Given the description of an element on the screen output the (x, y) to click on. 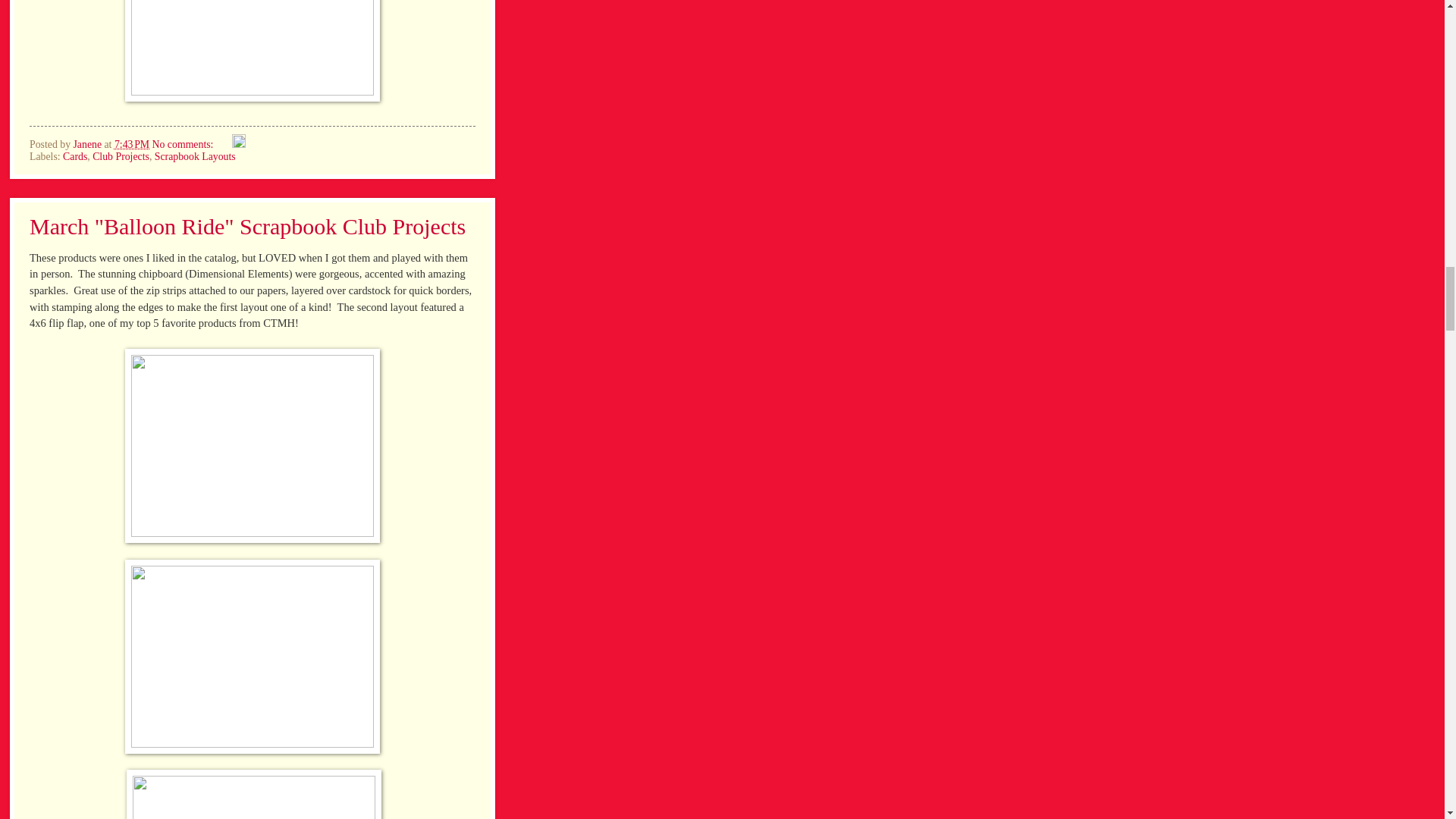
March "Balloon Ride" Scrapbook Club Projects (247, 226)
Club Projects (121, 156)
Cards (74, 156)
permanent link (132, 143)
Email Post (223, 143)
Scrapbook Layouts (194, 156)
author profile (87, 143)
Janene (87, 143)
No comments: (183, 143)
Edit Post (238, 143)
